Given the description of an element on the screen output the (x, y) to click on. 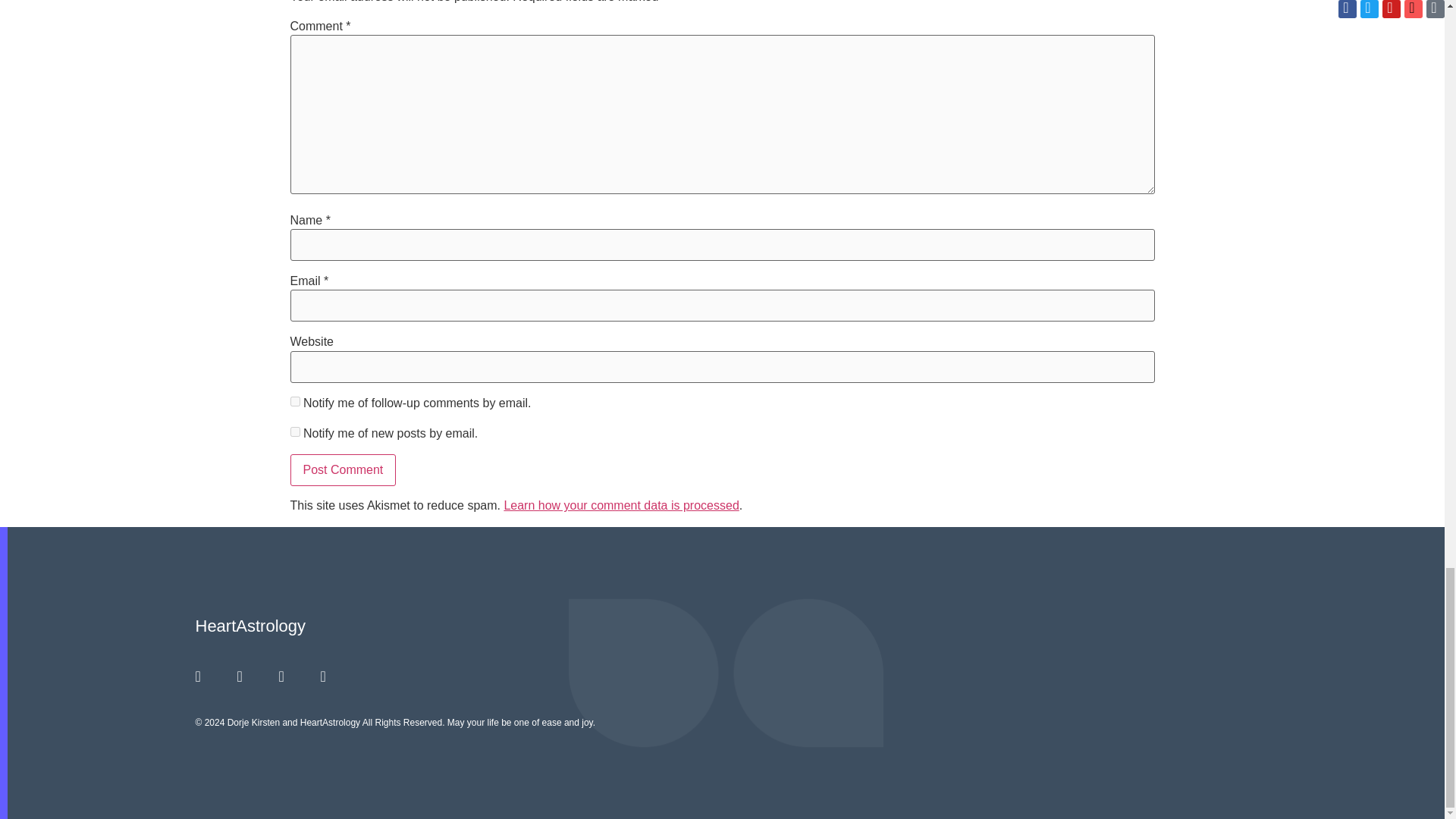
subscribe (294, 401)
Post Comment (342, 470)
subscribe (294, 431)
